Given the description of an element on the screen output the (x, y) to click on. 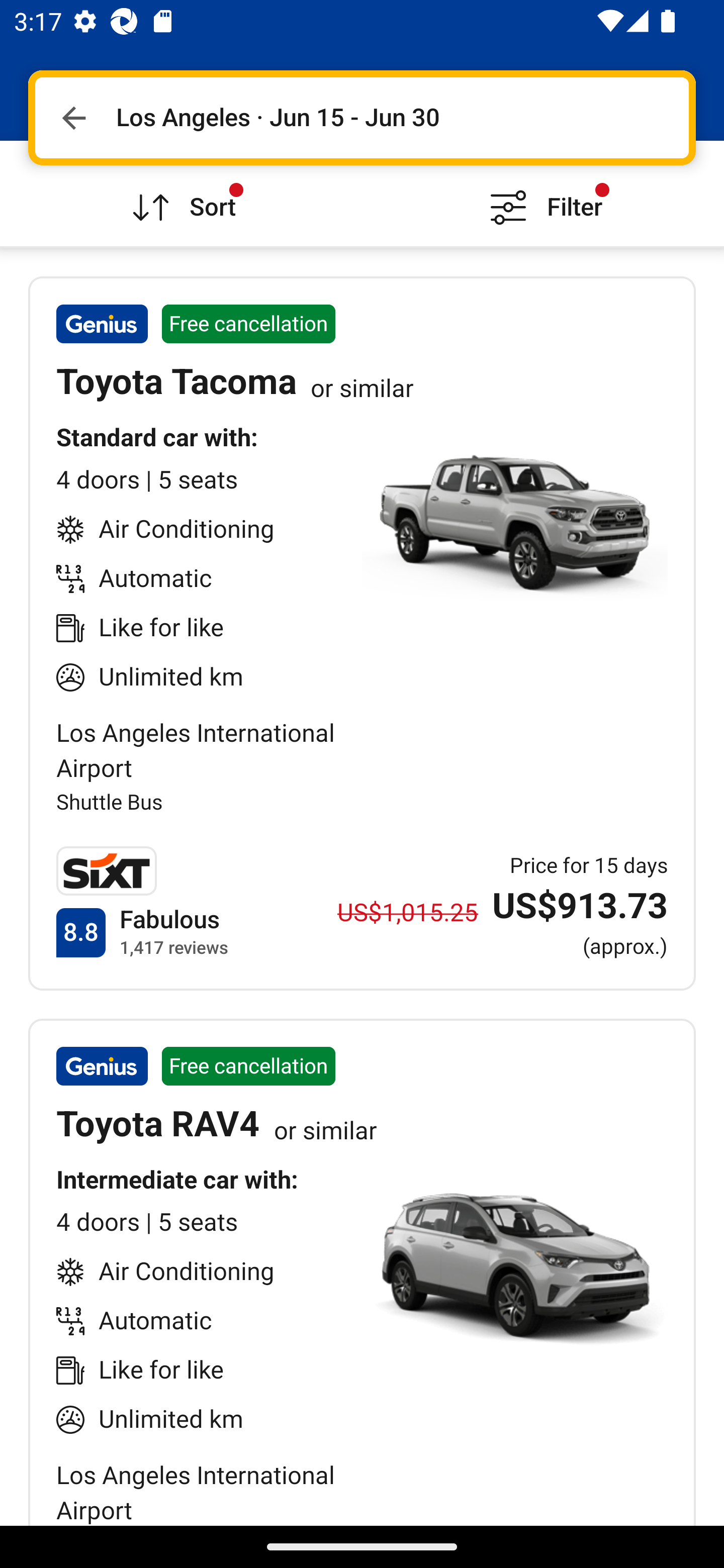
Back to previous screen (73, 117)
Sort (181, 193)
Filter (543, 193)
